Given the description of an element on the screen output the (x, y) to click on. 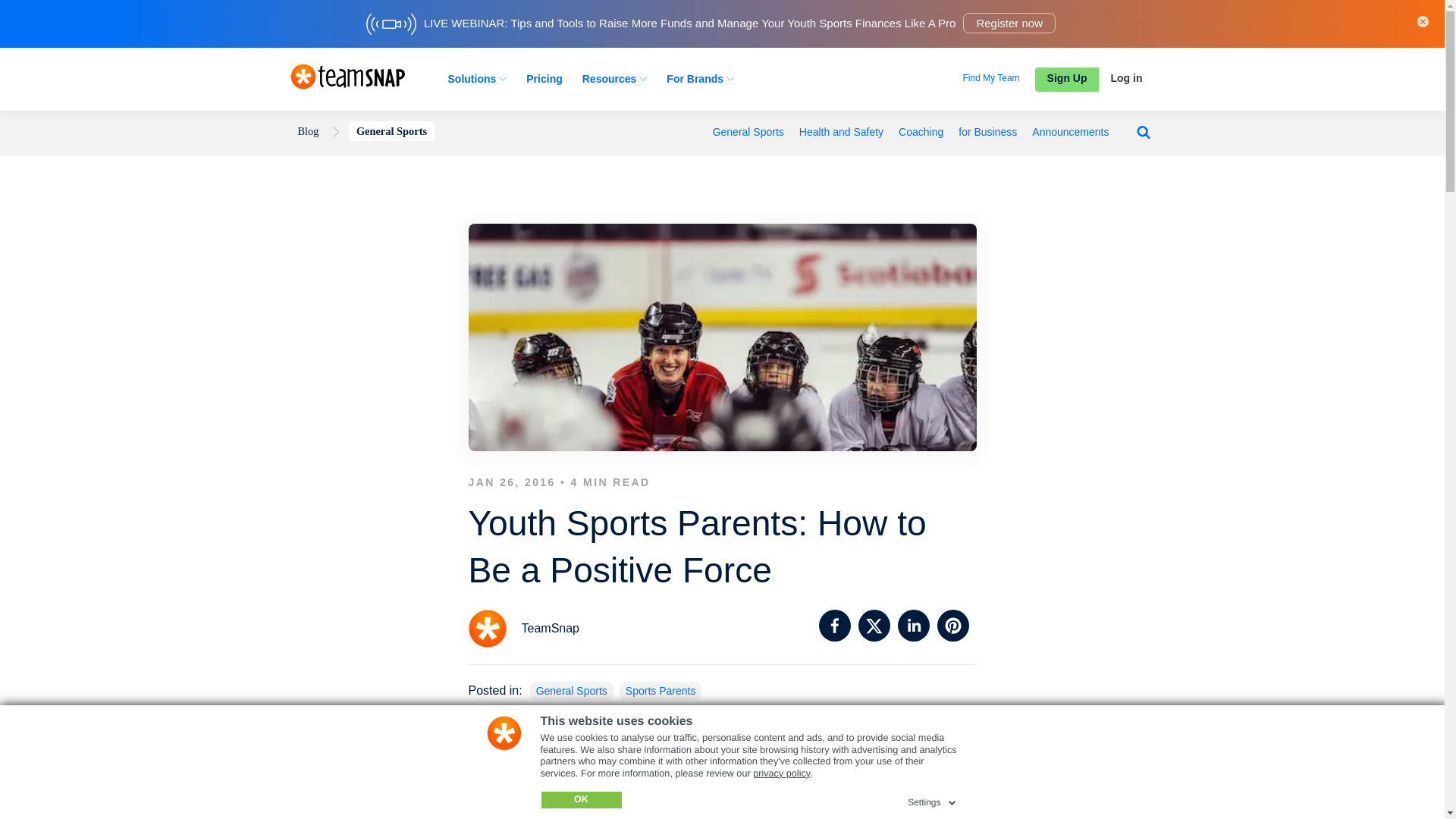
TeamSnap Logo (346, 76)
OK (581, 799)
Settings (932, 799)
privacy policy (780, 773)
